Given the description of an element on the screen output the (x, y) to click on. 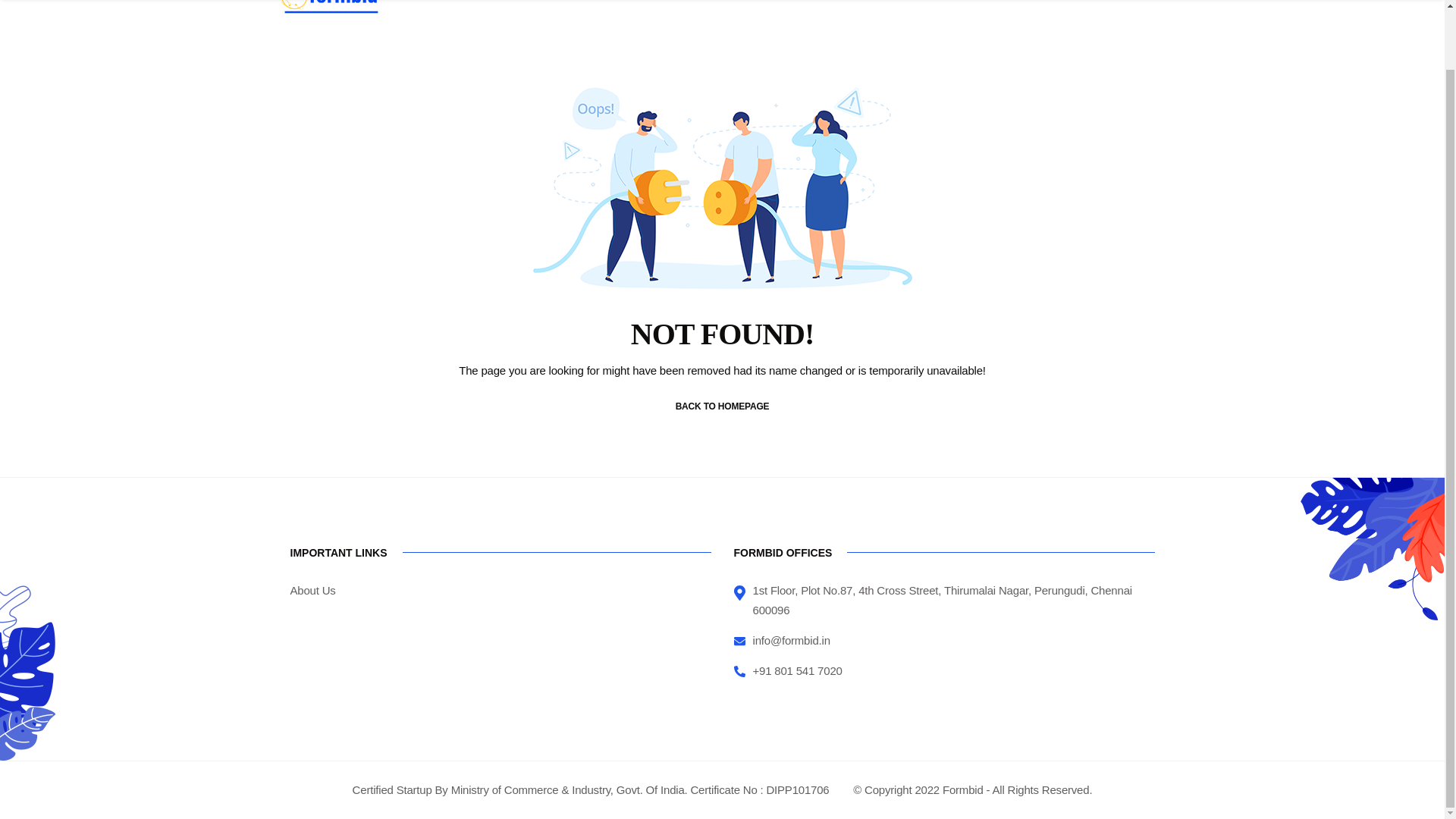
FOR SELLERS (879, 13)
PRODUCT LISTINGS (982, 13)
LOGIN (1125, 13)
HOME (722, 13)
BACK TO HOMEPAGE (722, 406)
FOR BUYERS (791, 13)
About Us (311, 590)
ABOUT (1068, 13)
